Given the description of an element on the screen output the (x, y) to click on. 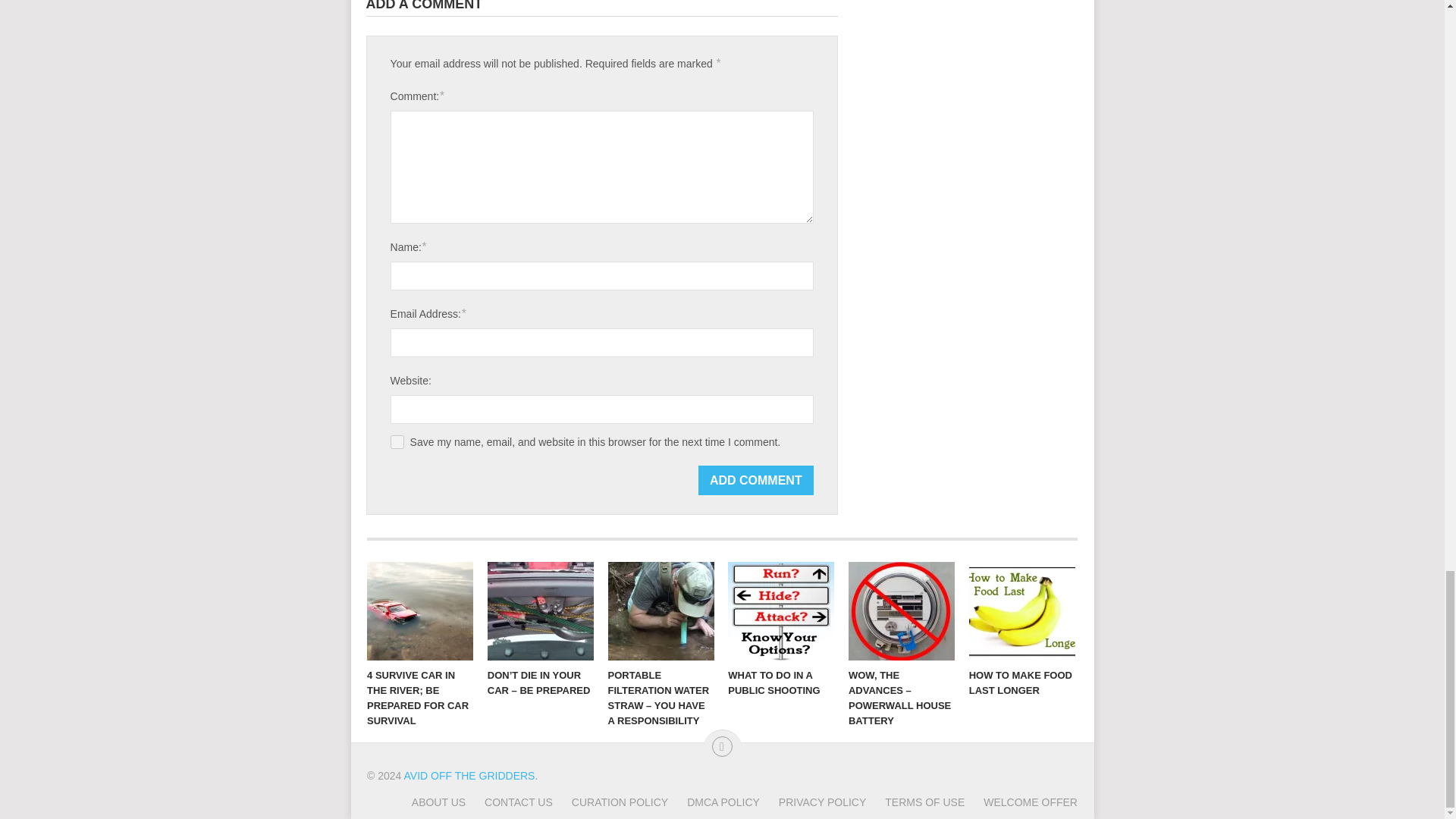
Add Comment (755, 480)
yes (397, 441)
Add Comment (755, 480)
